Given the description of an element on the screen output the (x, y) to click on. 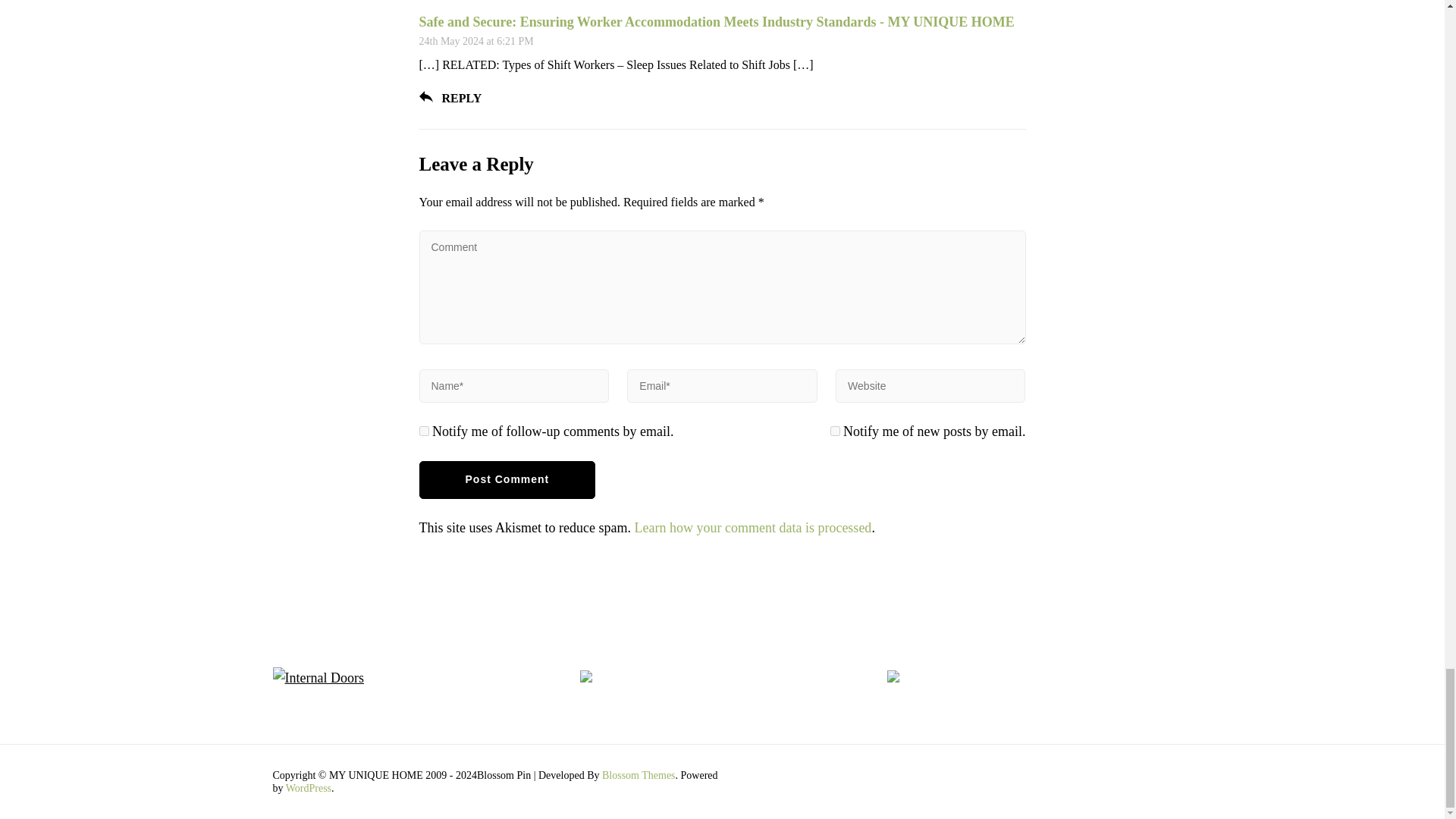
Post Comment (507, 479)
subscribe (834, 430)
subscribe (423, 430)
